Given the description of an element on the screen output the (x, y) to click on. 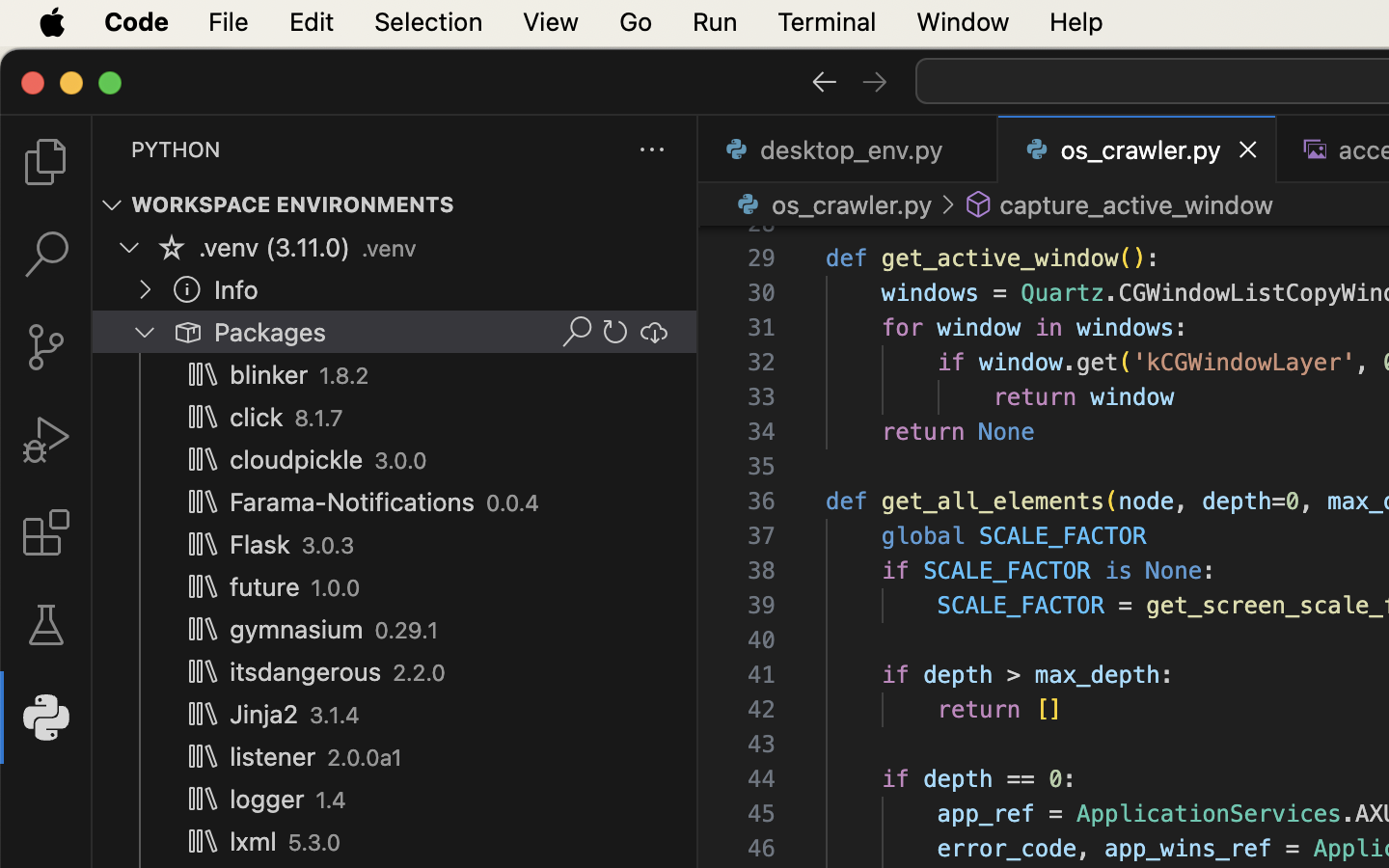
lxml Element type: AXStaticText (253, 841)
 Element type: AXStaticText (186, 288)
 Element type: AXStaticText (186, 331)
